Given the description of an element on the screen output the (x, y) to click on. 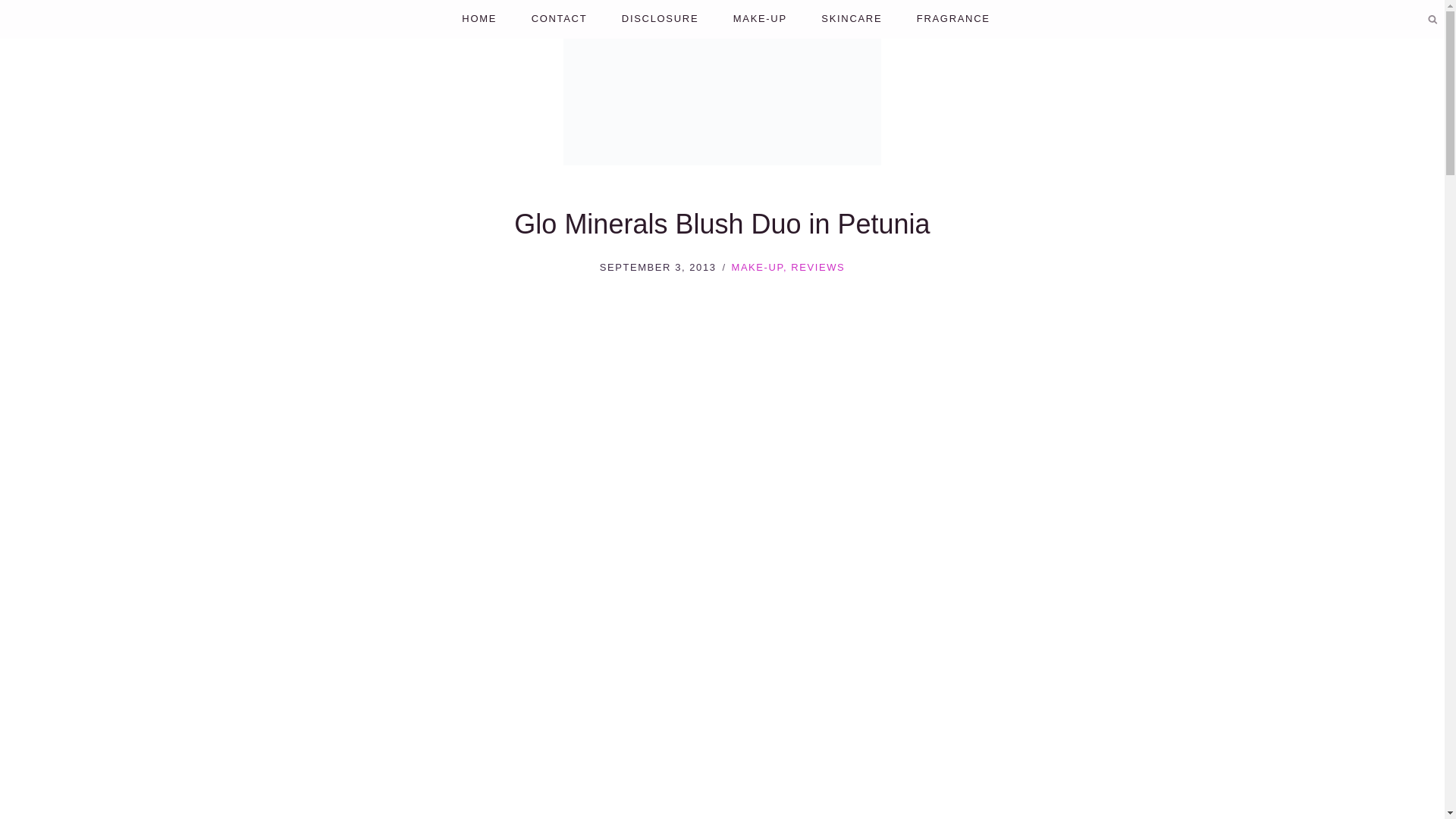
SKINCARE (852, 19)
FRAGRANCE (953, 19)
MAKE-UP (760, 19)
HOME (479, 19)
MAKE-UP (756, 266)
CONTACT (558, 19)
REVIEWS (817, 266)
DISCLOSURE (660, 19)
